Given the description of an element on the screen output the (x, y) to click on. 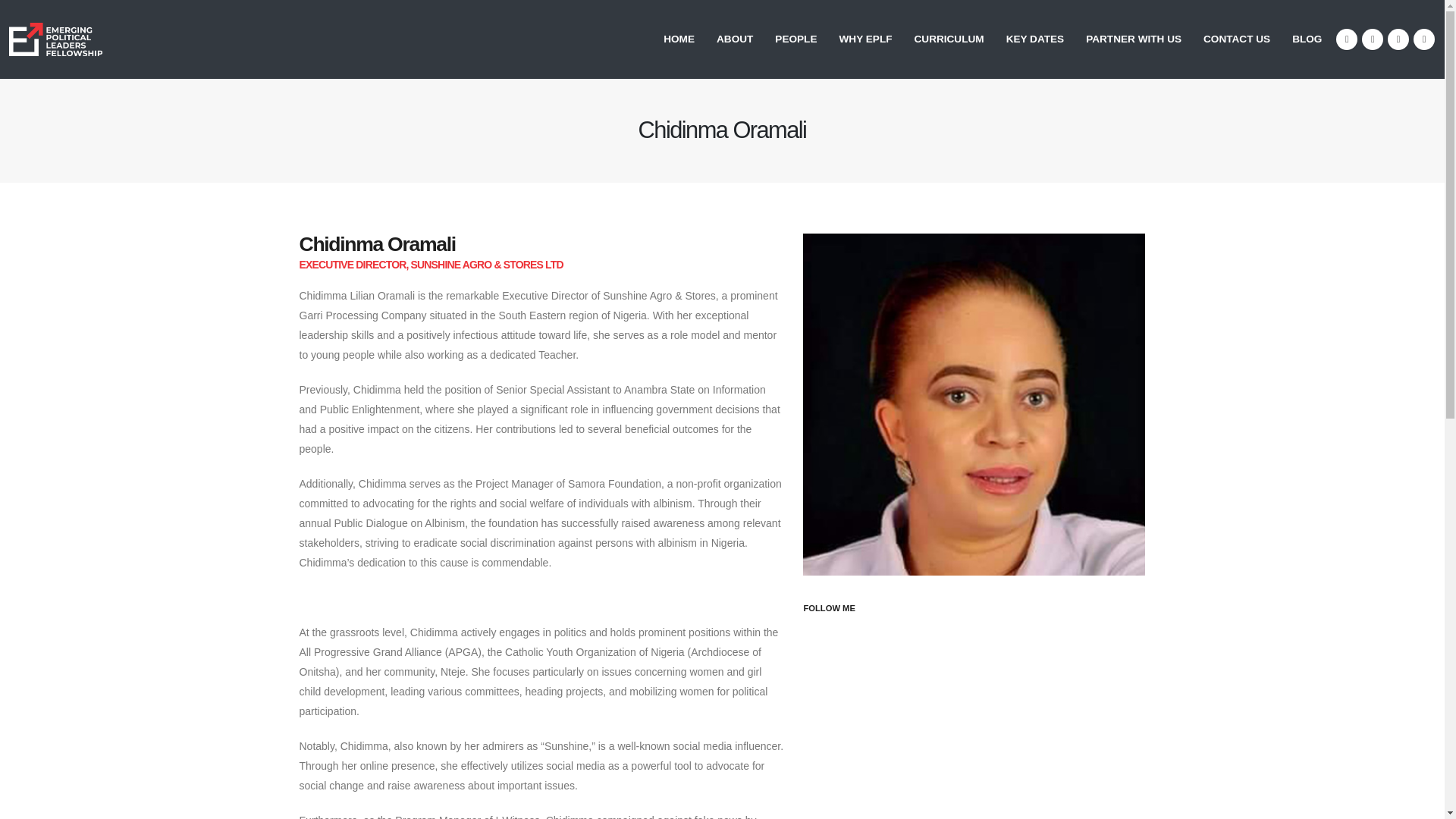
Facebook (1346, 38)
CONTACT US (1236, 39)
Instagram (1398, 38)
KEY DATES (1035, 39)
CURRICULUM (949, 39)
LinkedIn (1423, 38)
Twitter (1372, 38)
PARTNER WITH US (1133, 39)
WHY EPLF (865, 39)
